Given the description of an element on the screen output the (x, y) to click on. 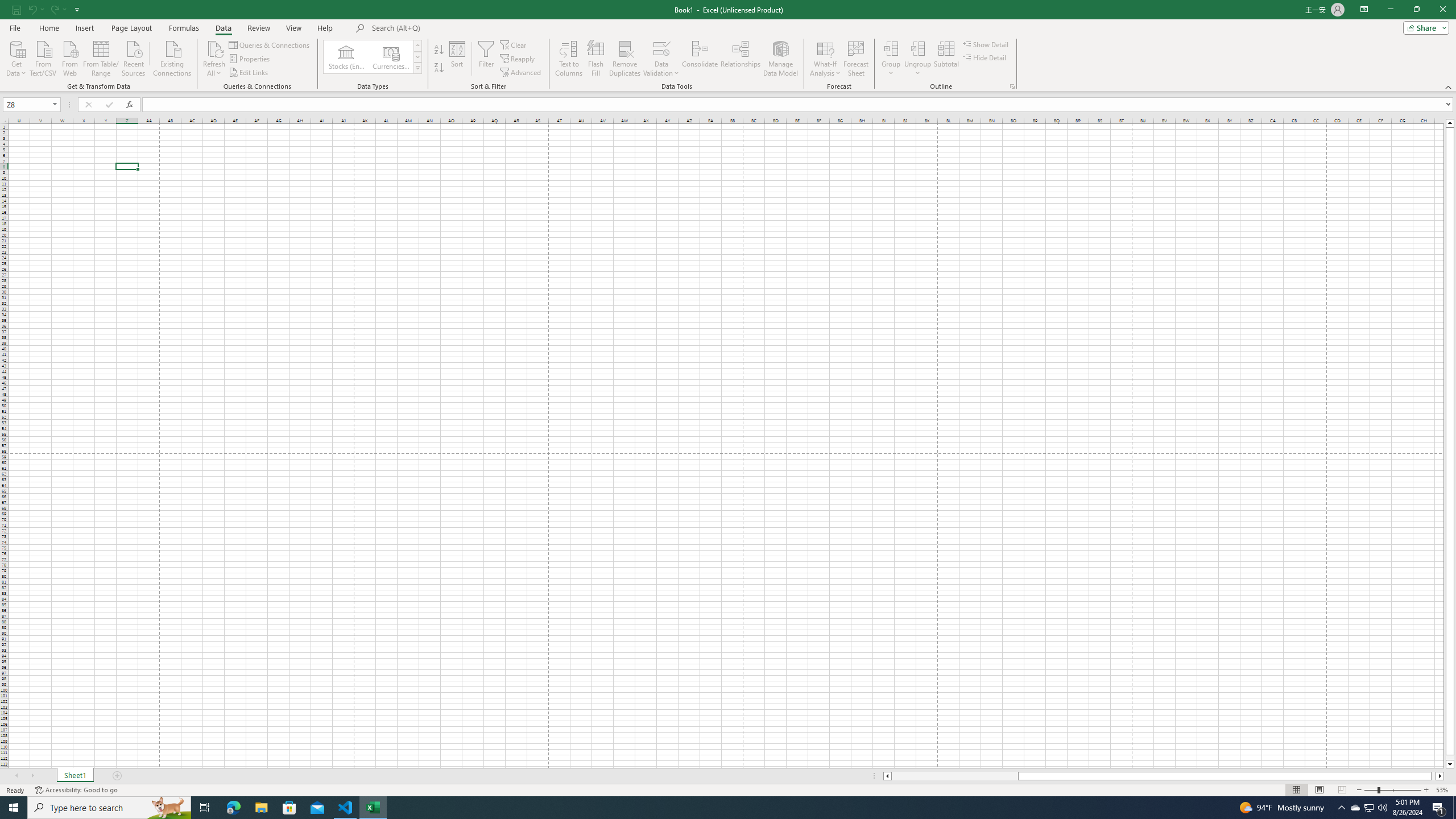
Stocks (English) (346, 56)
Recent Sources (133, 57)
Page Break Preview (1342, 790)
Open (54, 104)
Data (223, 28)
Zoom In (1426, 790)
Manage Data Model (780, 58)
Show Detail (985, 44)
Data Types (417, 67)
Page right (1433, 775)
Formula Bar (798, 104)
